Given the description of an element on the screen output the (x, y) to click on. 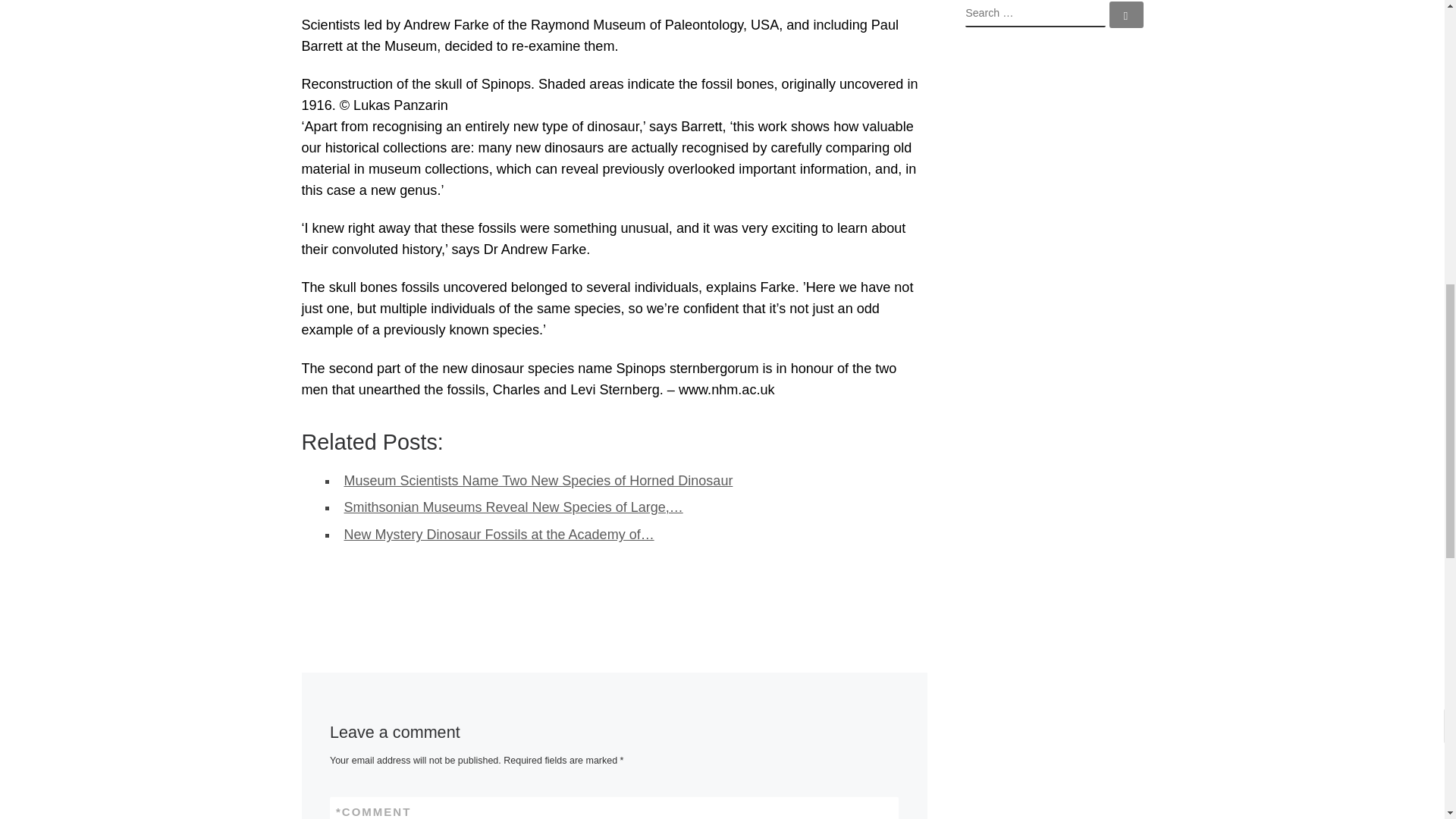
Museum Scientists Name Two New Species of Horned Dinosaur (538, 480)
